Given the description of an element on the screen output the (x, y) to click on. 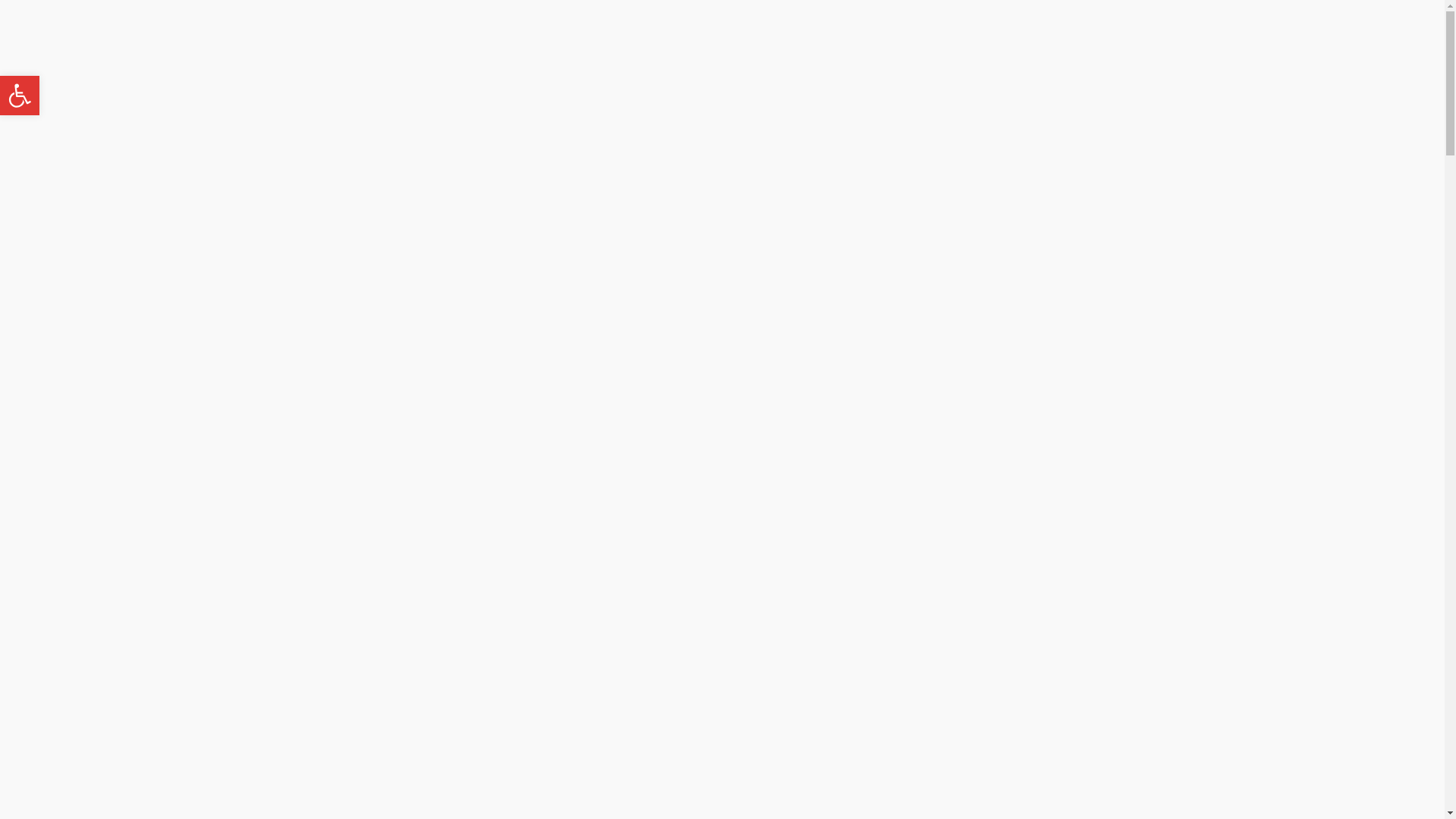
Open toolbar
Barrierefreiheit Einstellungen Element type: text (19, 95)
